Given the description of an element on the screen output the (x, y) to click on. 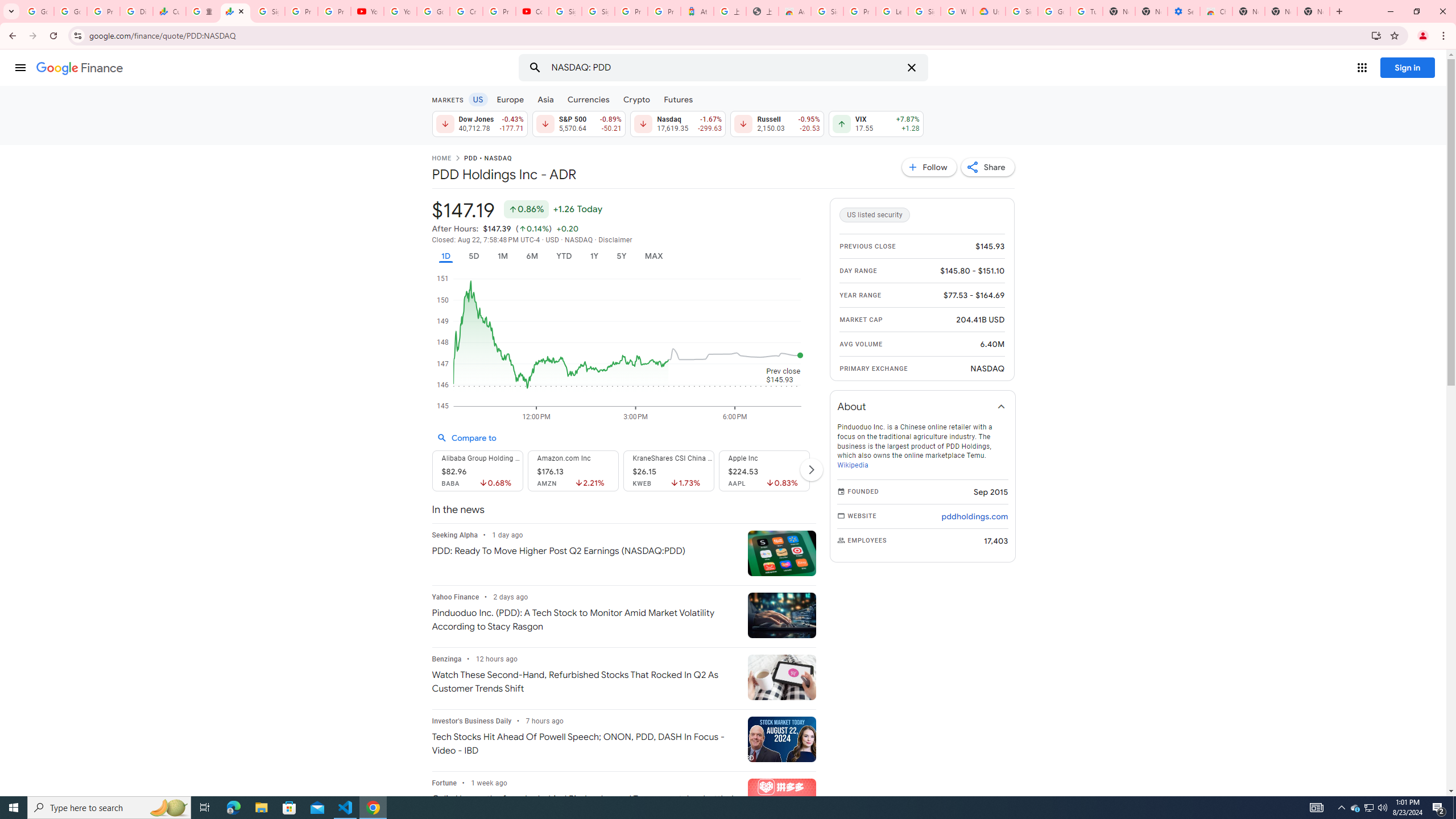
Share (987, 167)
Wikipedia (852, 465)
Currencies - Google Finance (169, 11)
New Tab (1248, 11)
Google Workspace Admin Community (37, 11)
Sign in - Google Accounts (564, 11)
Chrome Web Store - Accessibility extensions (1216, 11)
Sign in - Google Accounts (1021, 11)
MAX (653, 255)
Who are Google's partners? - Privacy and conditions - Google (957, 11)
